Given the description of an element on the screen output the (x, y) to click on. 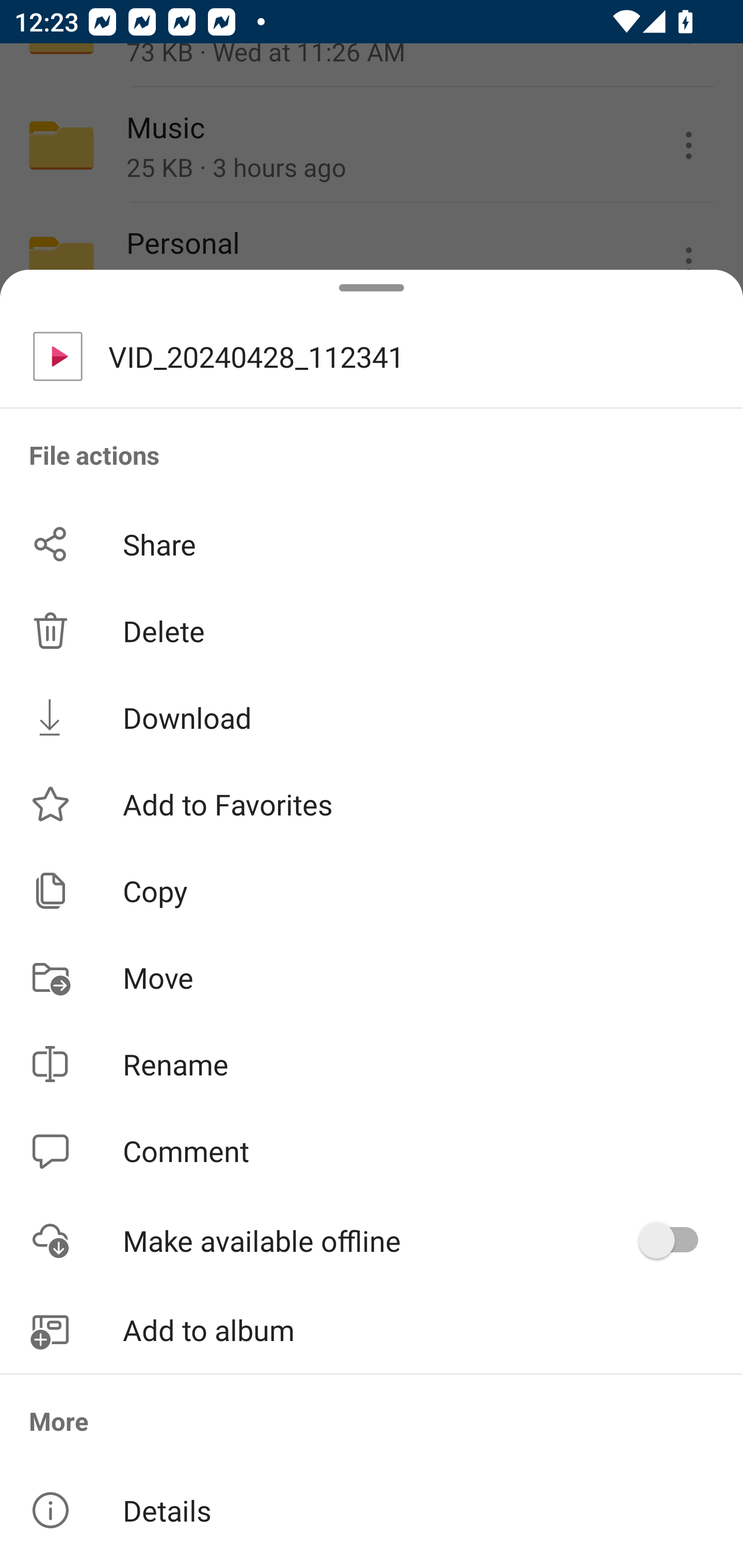
Share button Share (371, 544)
Delete button Delete (371, 631)
Download button Download (371, 717)
Add to Favorites button Add to Favorites (371, 803)
Copy button Copy (371, 890)
Move button Move (371, 977)
Rename button Rename (371, 1063)
Comment button Comment (371, 1150)
Make offline operation (674, 1240)
Add to album button Add to album (371, 1329)
Details button Details (371, 1510)
